Given the description of an element on the screen output the (x, y) to click on. 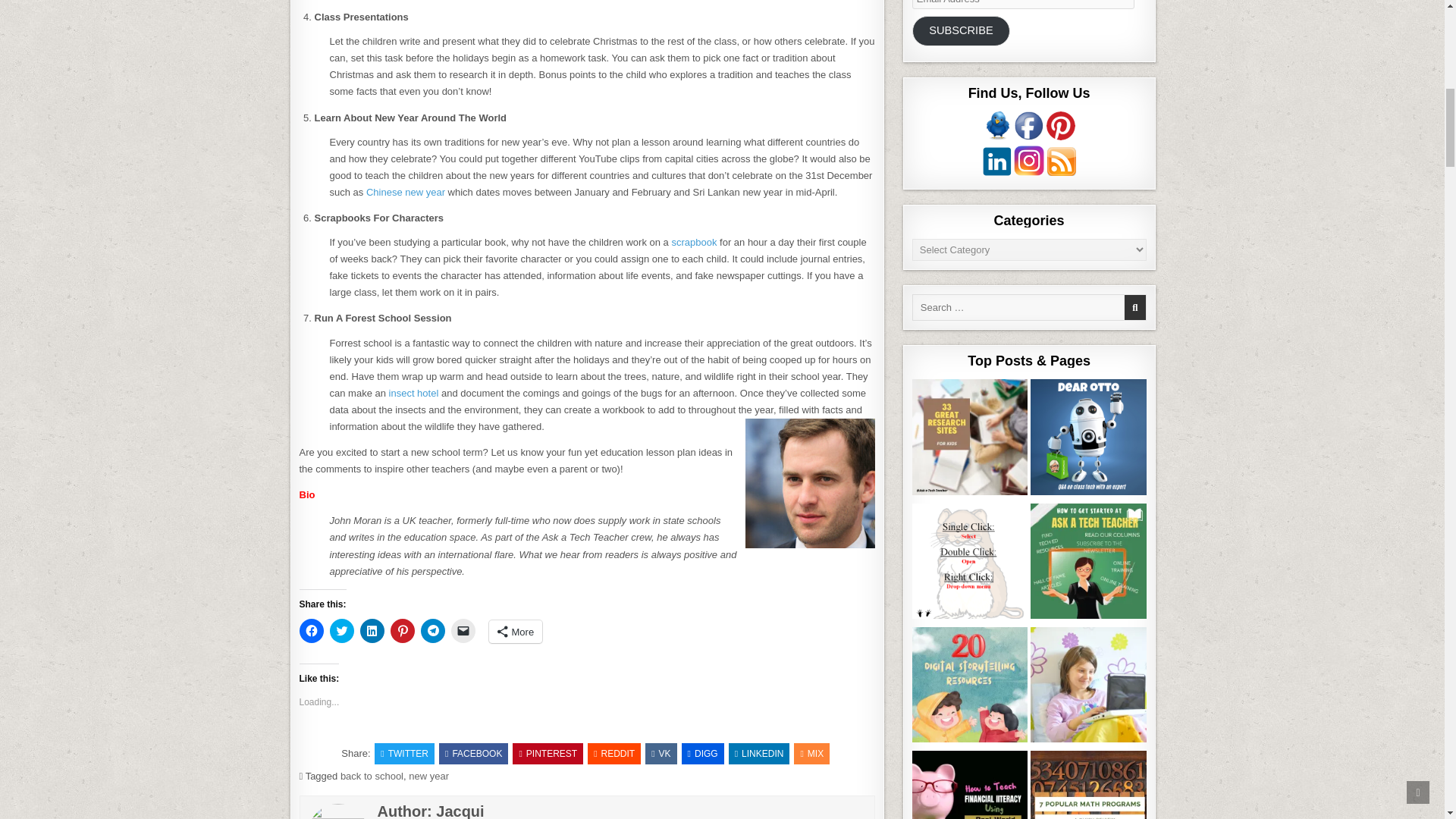
Click to share on LinkedIn (371, 630)
Click to share on Pinterest (401, 630)
Click to share on Twitter (341, 630)
Click to share on Facebook (310, 630)
Click to email a link to a friend (461, 630)
Click to share on Telegram (432, 630)
